Given the description of an element on the screen output the (x, y) to click on. 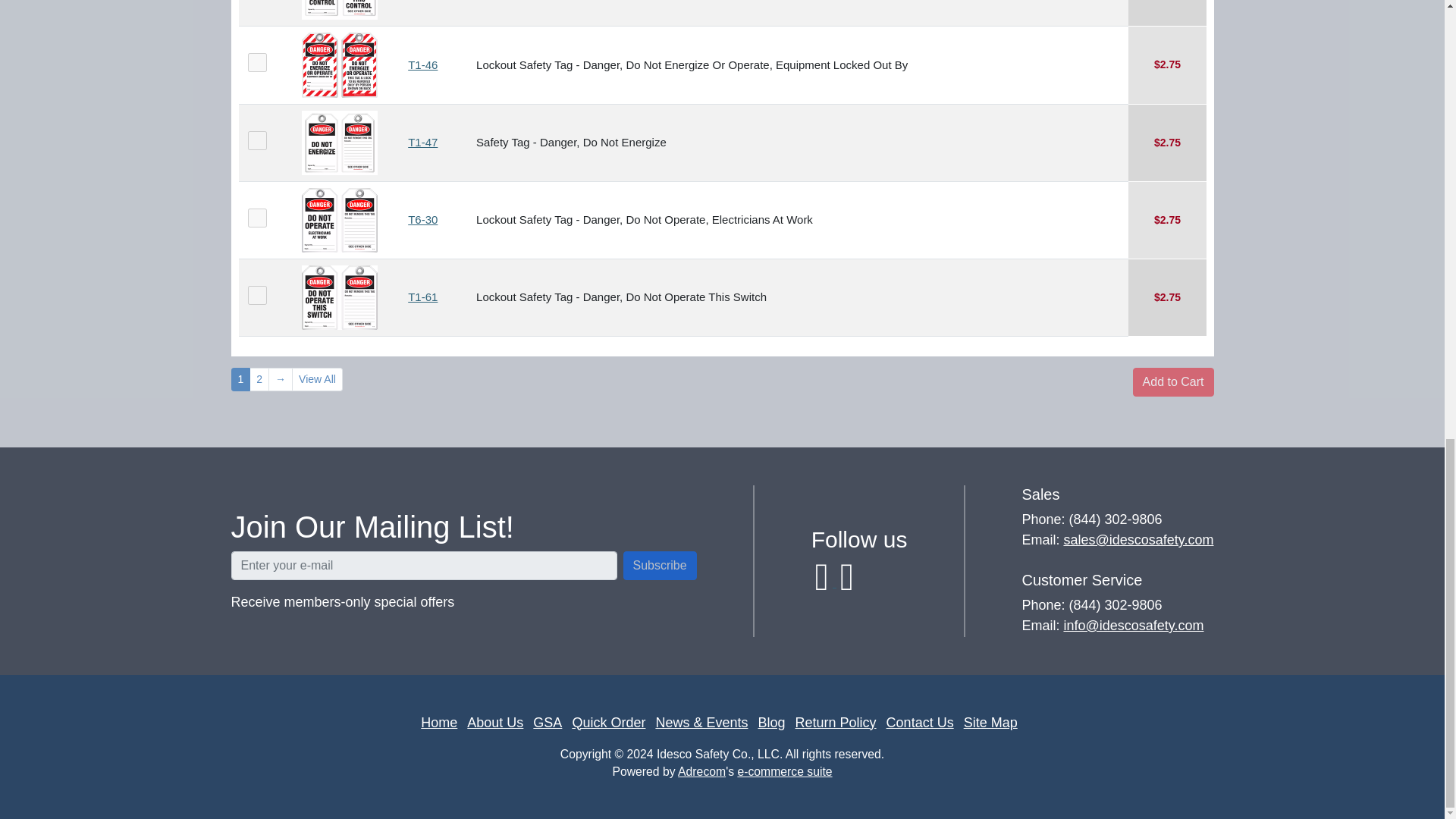
Add to Cart (1173, 380)
25 (256, 294)
Subscribe (660, 565)
25 (256, 217)
25 (256, 62)
25 (256, 139)
